Given the description of an element on the screen output the (x, y) to click on. 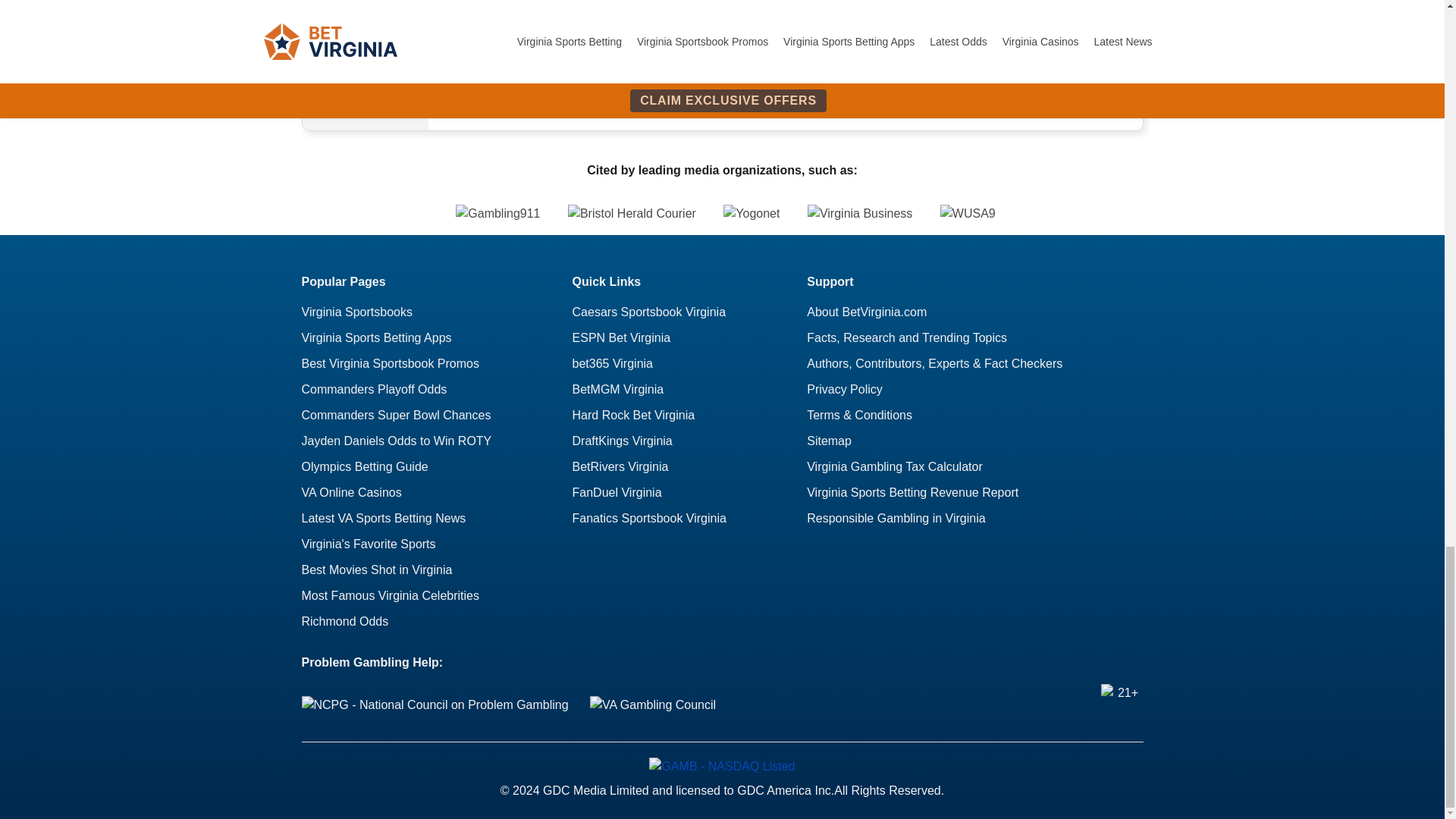
Bill Ordine (365, 31)
